Given the description of an element on the screen output the (x, y) to click on. 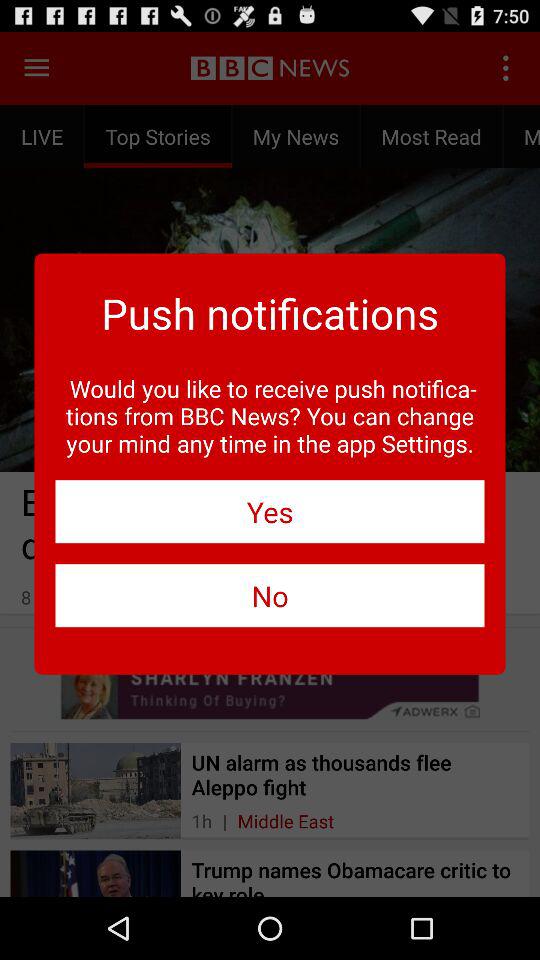
turn on icon below the would you like icon (269, 511)
